Given the description of an element on the screen output the (x, y) to click on. 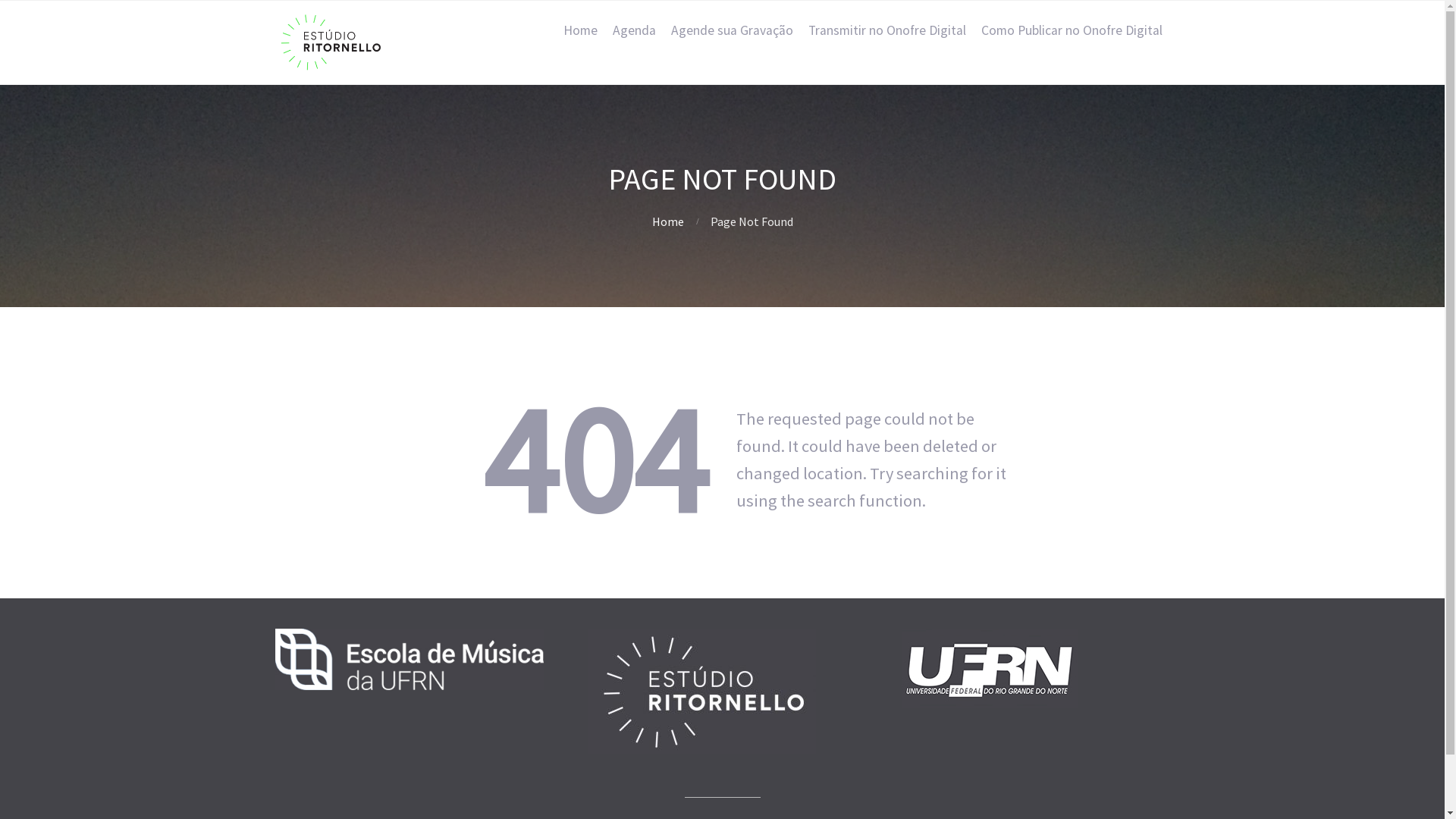
Como Publicar no Onofre Digital Element type: text (1071, 30)
Agenda Element type: text (634, 30)
Transmitir no Onofre Digital Element type: text (886, 30)
Home Element type: text (668, 221)
Home Element type: text (579, 30)
